Given the description of an element on the screen output the (x, y) to click on. 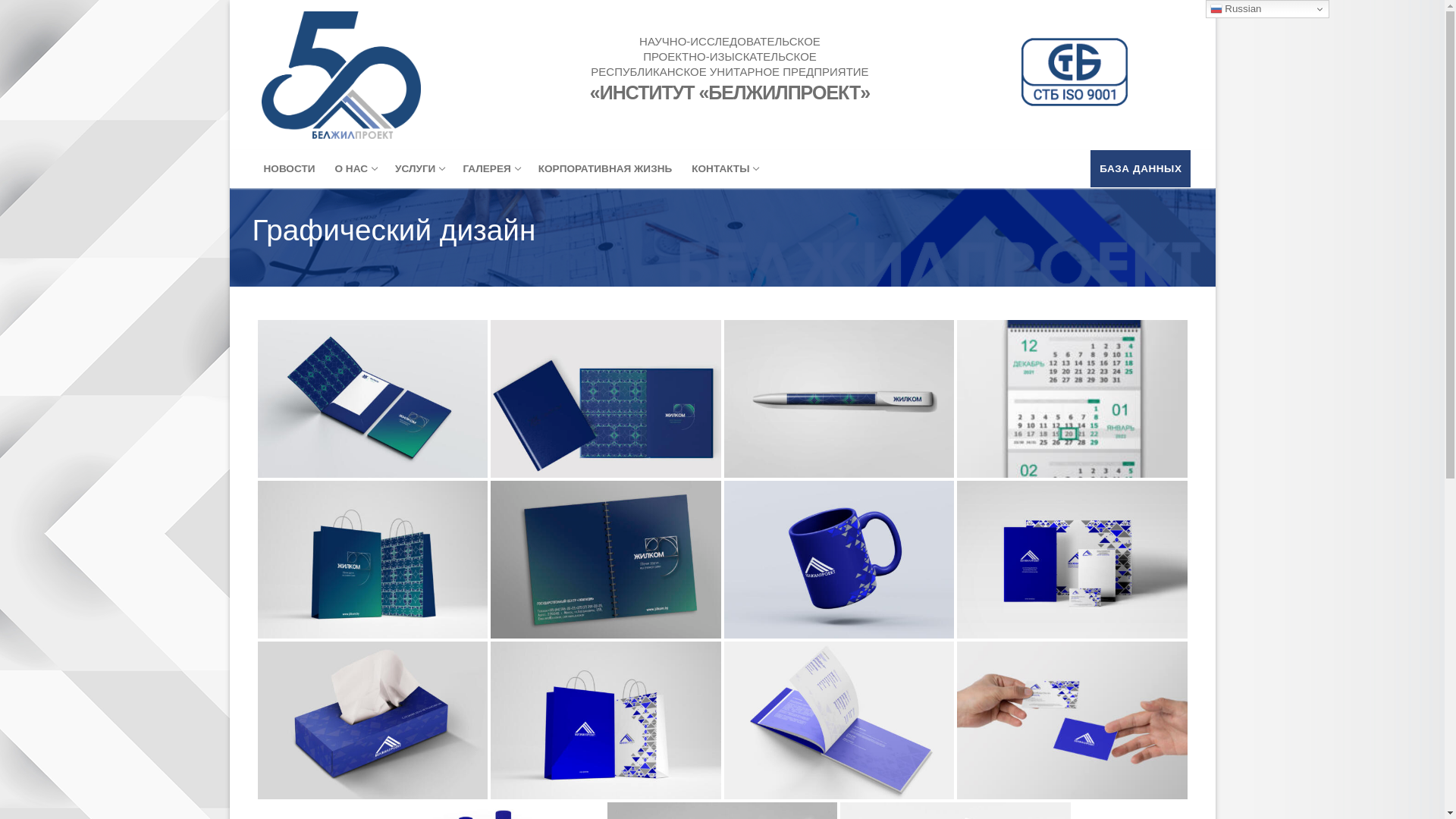
Russian Element type: text (1267, 9)
